Given the description of an element on the screen output the (x, y) to click on. 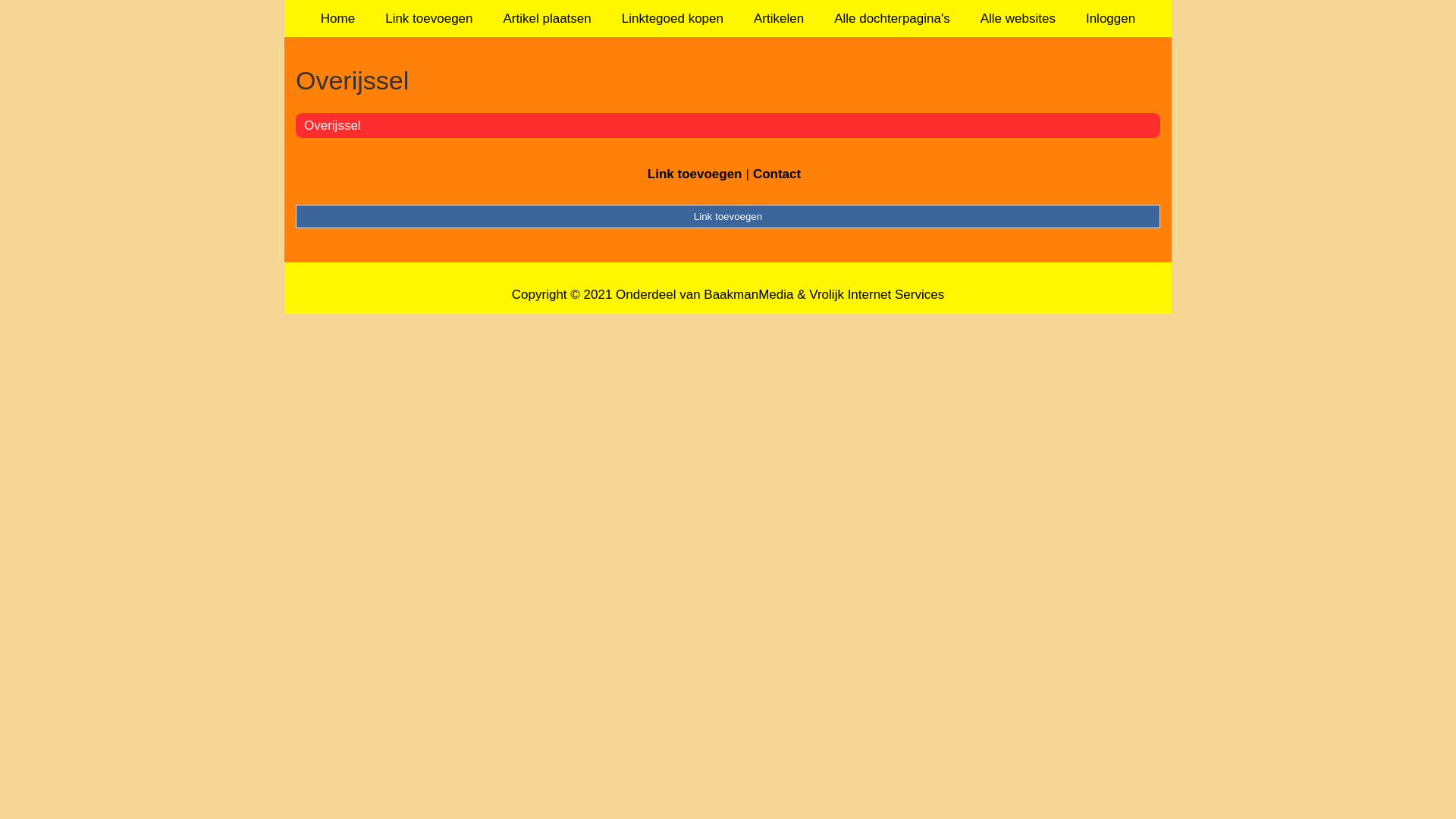
Overijssel Element type: text (727, 80)
Linktegoed kopen Element type: text (672, 18)
Home Element type: text (337, 18)
Link toevoegen Element type: text (694, 173)
Vrolijk Internet Services Element type: text (876, 294)
Overijssel Element type: text (332, 125)
Link toevoegen Element type: text (428, 18)
Alle dochterpagina's Element type: text (892, 18)
Inloggen Element type: text (1110, 18)
Alle websites Element type: text (1017, 18)
Contact Element type: text (776, 173)
BaakmanMedia Element type: text (748, 294)
Link toevoegen Element type: text (727, 215)
Artikel plaatsen Element type: text (547, 18)
Artikelen Element type: text (778, 18)
